Given the description of an element on the screen output the (x, y) to click on. 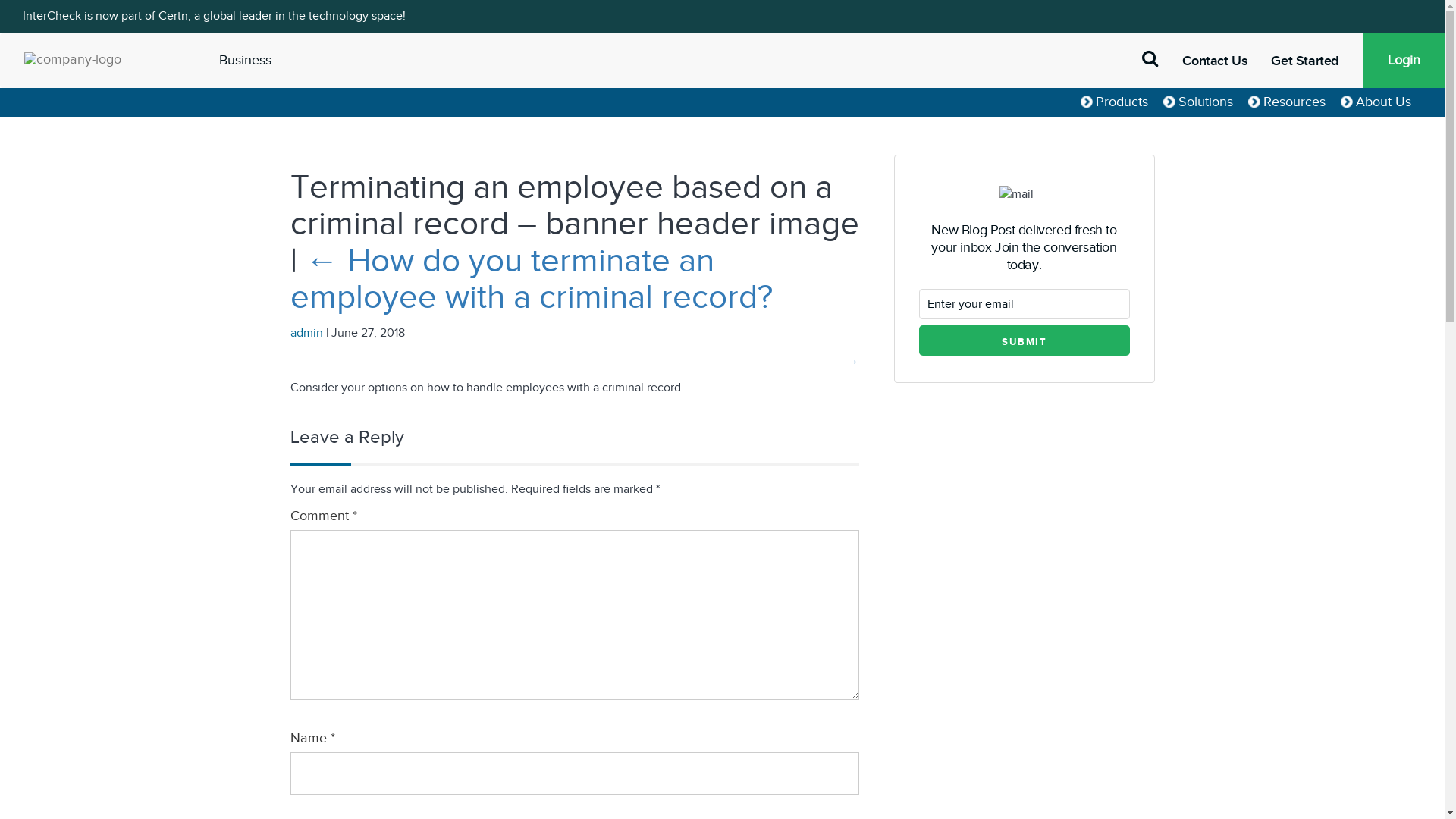
Business Element type: text (245, 60)
Get Started Element type: text (1316, 60)
Contact Us Element type: text (1226, 60)
Solutions Element type: text (1197, 101)
Login Element type: text (1403, 60)
Products Element type: text (1114, 101)
Resources Element type: text (1286, 101)
Submit Element type: text (1024, 340)
admin Element type: text (305, 333)
About Us Element type: text (1375, 101)
